Given the description of an element on the screen output the (x, y) to click on. 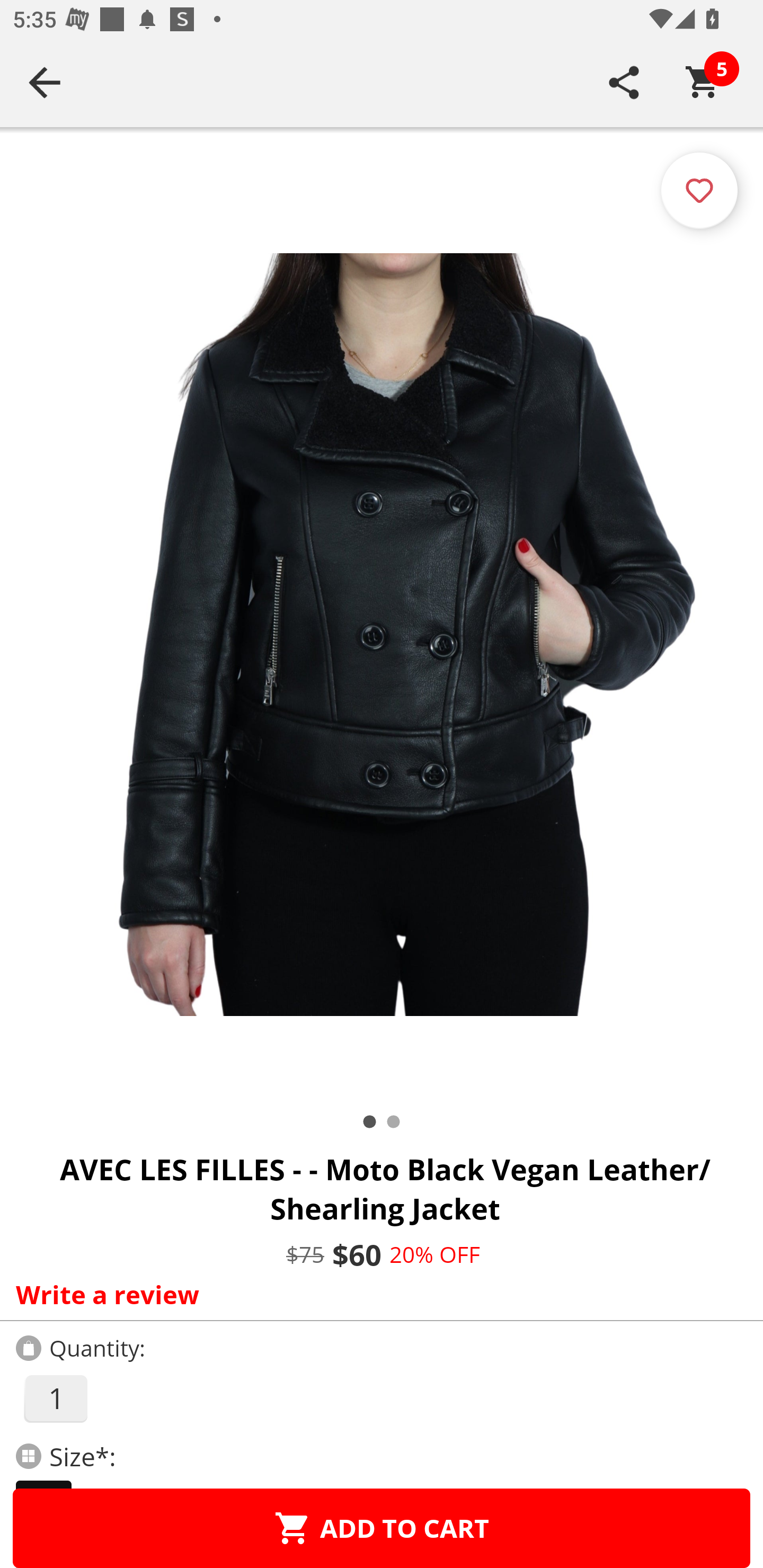
Navigate up (44, 82)
SHARE (623, 82)
Cart (703, 81)
Write a review (377, 1294)
1 (55, 1398)
ADD TO CART (381, 1528)
